Given the description of an element on the screen output the (x, y) to click on. 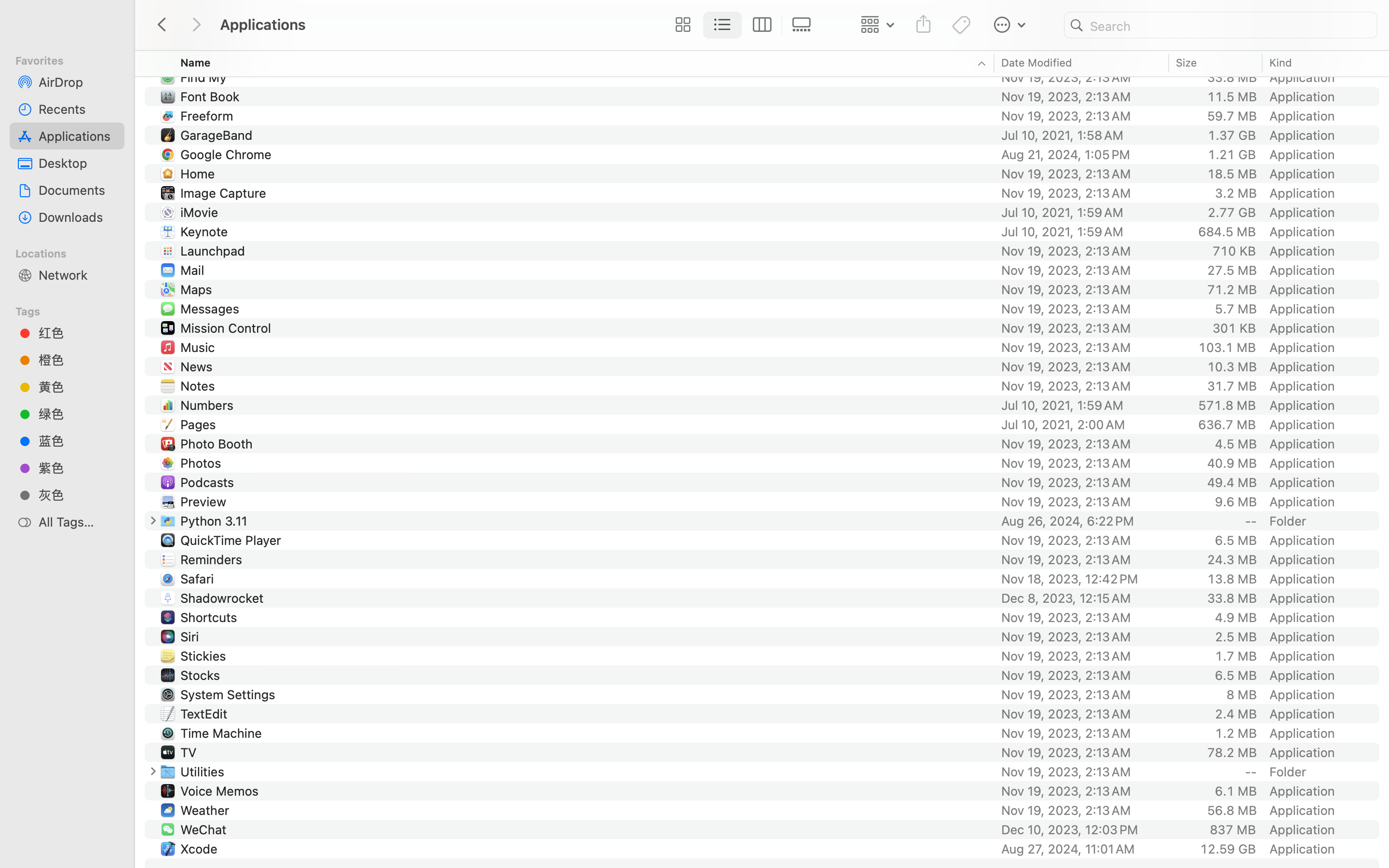
684.5 MB Element type: AXStaticText (1226, 231)
Freeform Element type: AXTextField (208, 115)
Network Element type: AXStaticText (77, 274)
WeChat Element type: AXTextField (205, 829)
571.8 MB Element type: AXStaticText (1226, 404)
